Given the description of an element on the screen output the (x, y) to click on. 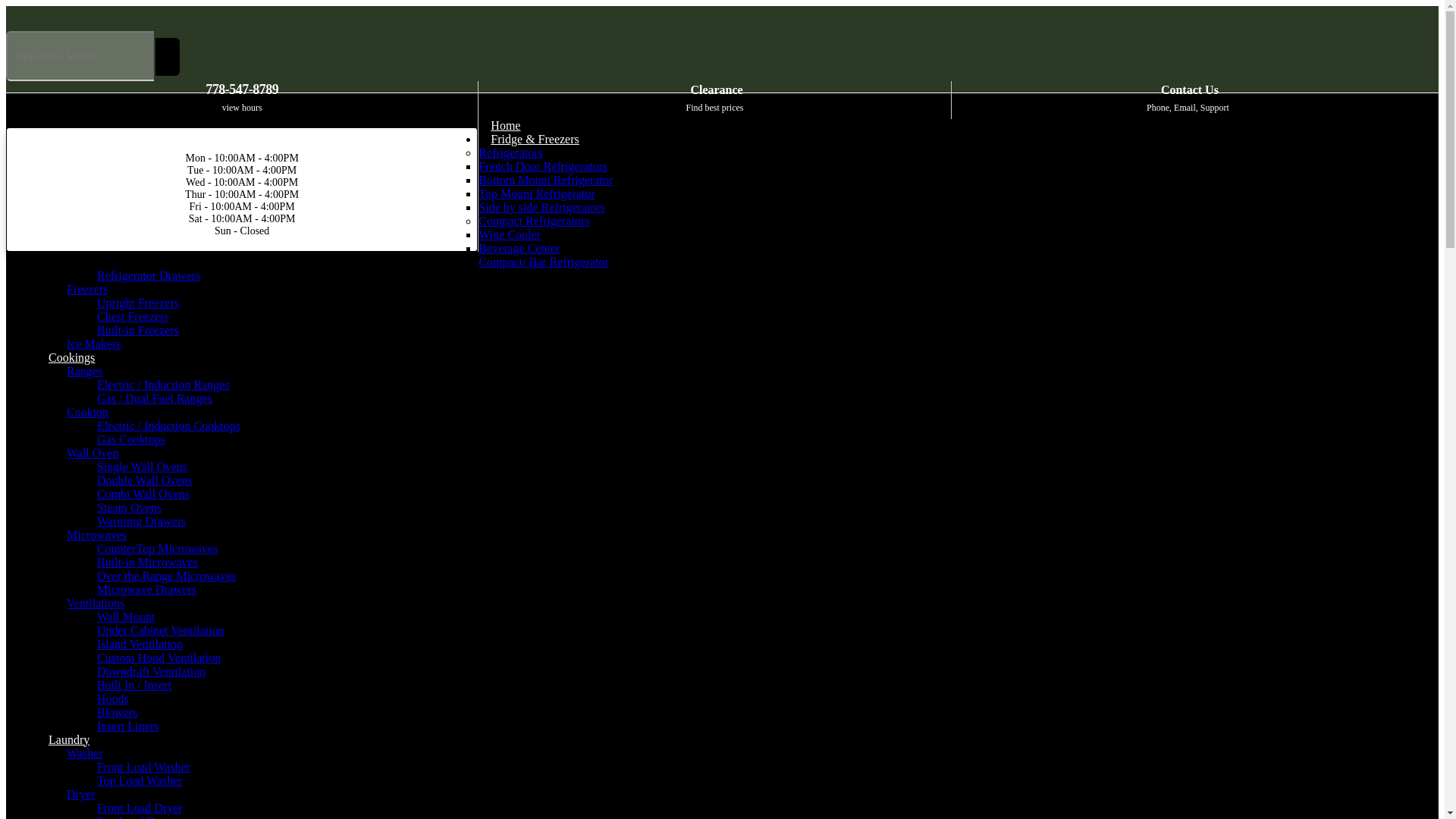
Combi Wall Ovens (143, 493)
778-547-8789 (241, 89)
Built-in Freezers (714, 100)
Home (138, 329)
Wine Cooler (505, 125)
Upright Freezers (509, 234)
Wall Oven (138, 302)
Side by side Refrigerators (91, 452)
Double Wall Ovens (542, 206)
